Given the description of an element on the screen output the (x, y) to click on. 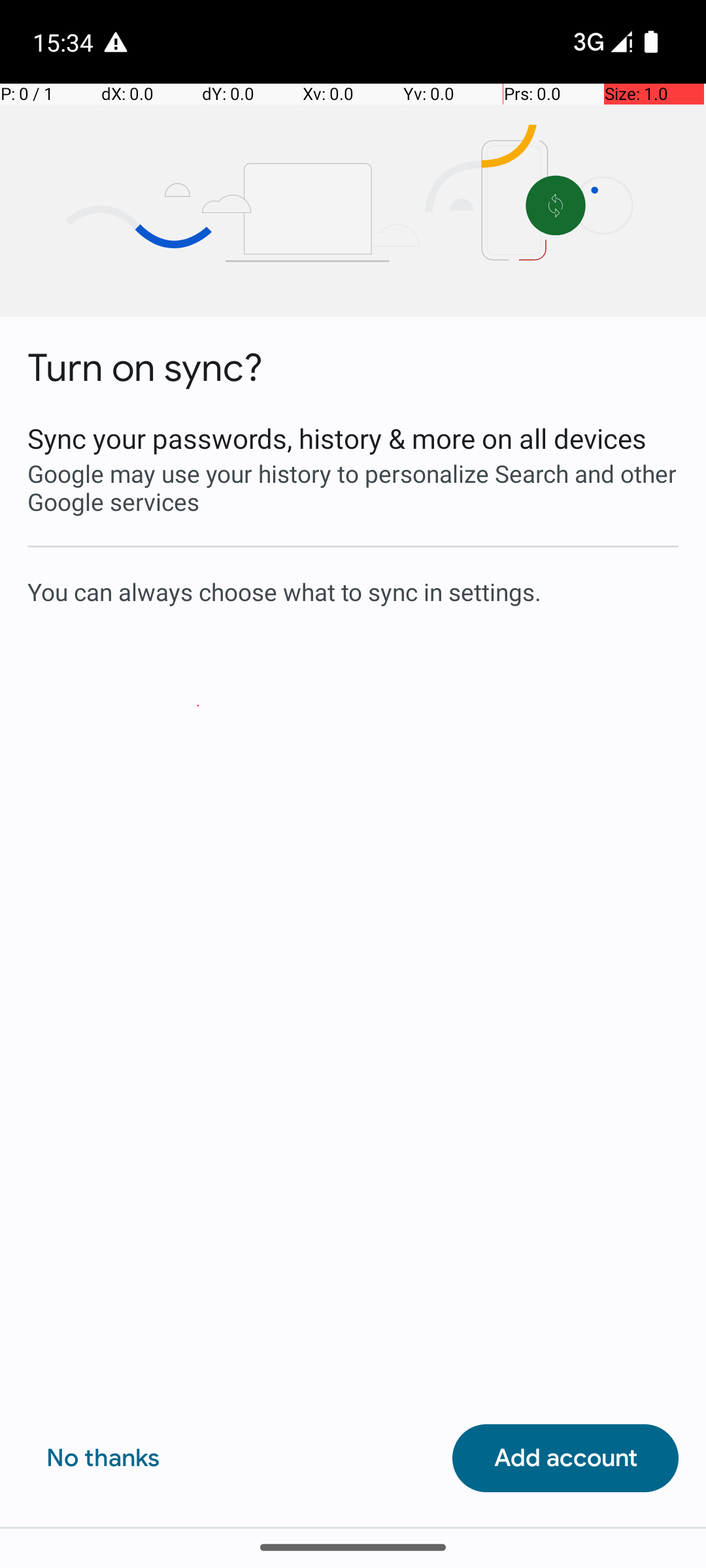
No thanks Element type: android.widget.Button (102, 1458)
Add account Element type: android.widget.Button (565, 1458)
Turn on sync? Element type: android.widget.TextView (144, 368)
Sync your passwords, history & more on all devices Element type: android.widget.TextView (352, 437)
Google may use your history to personalize Search and other Google services Element type: android.widget.TextView (352, 487)
You can always choose what to sync in settings. Element type: android.widget.TextView (352, 591)
